Given the description of an element on the screen output the (x, y) to click on. 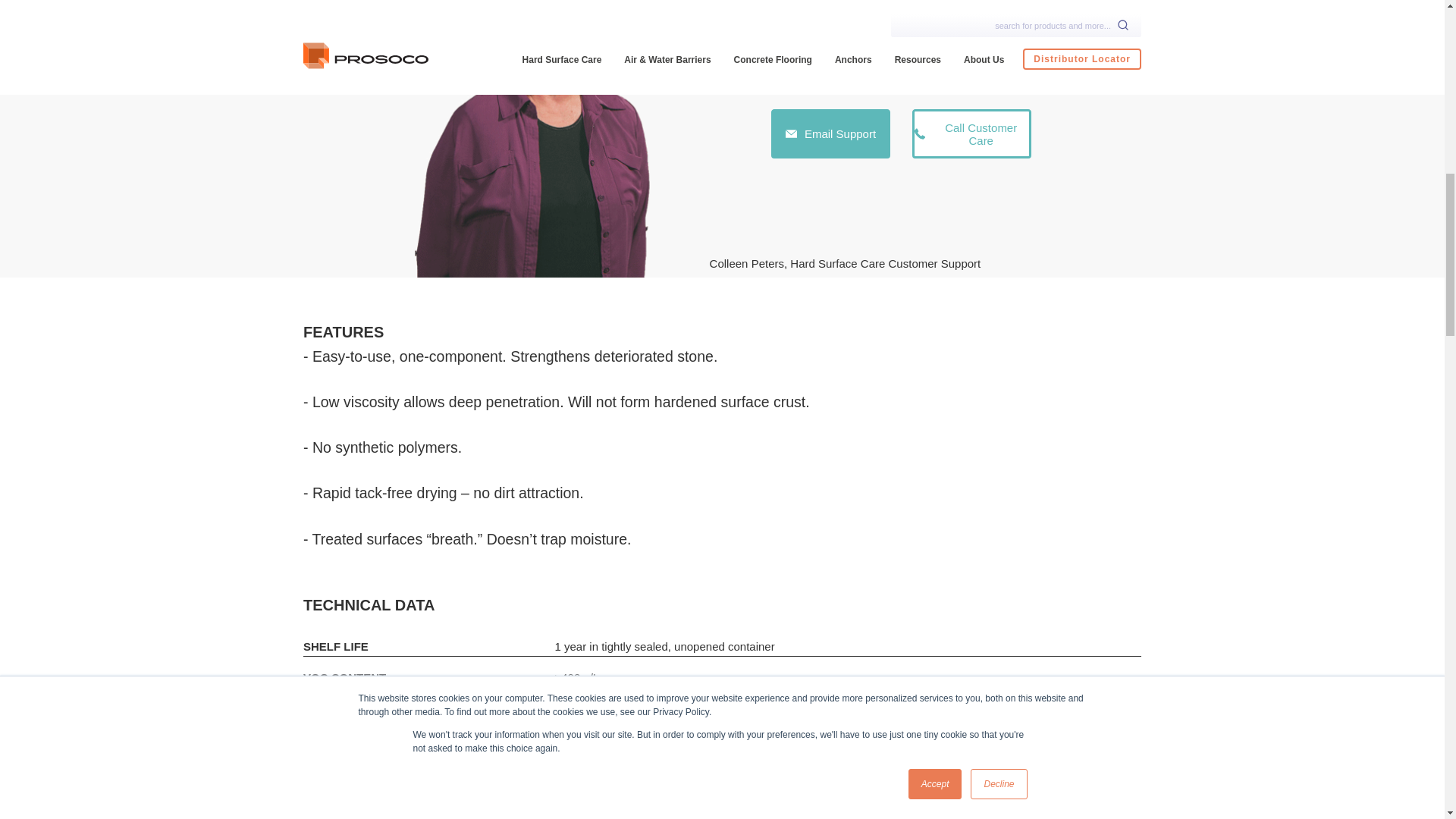
Call Customer Care (971, 133)
Email Customer Support (830, 133)
